Given the description of an element on the screen output the (x, y) to click on. 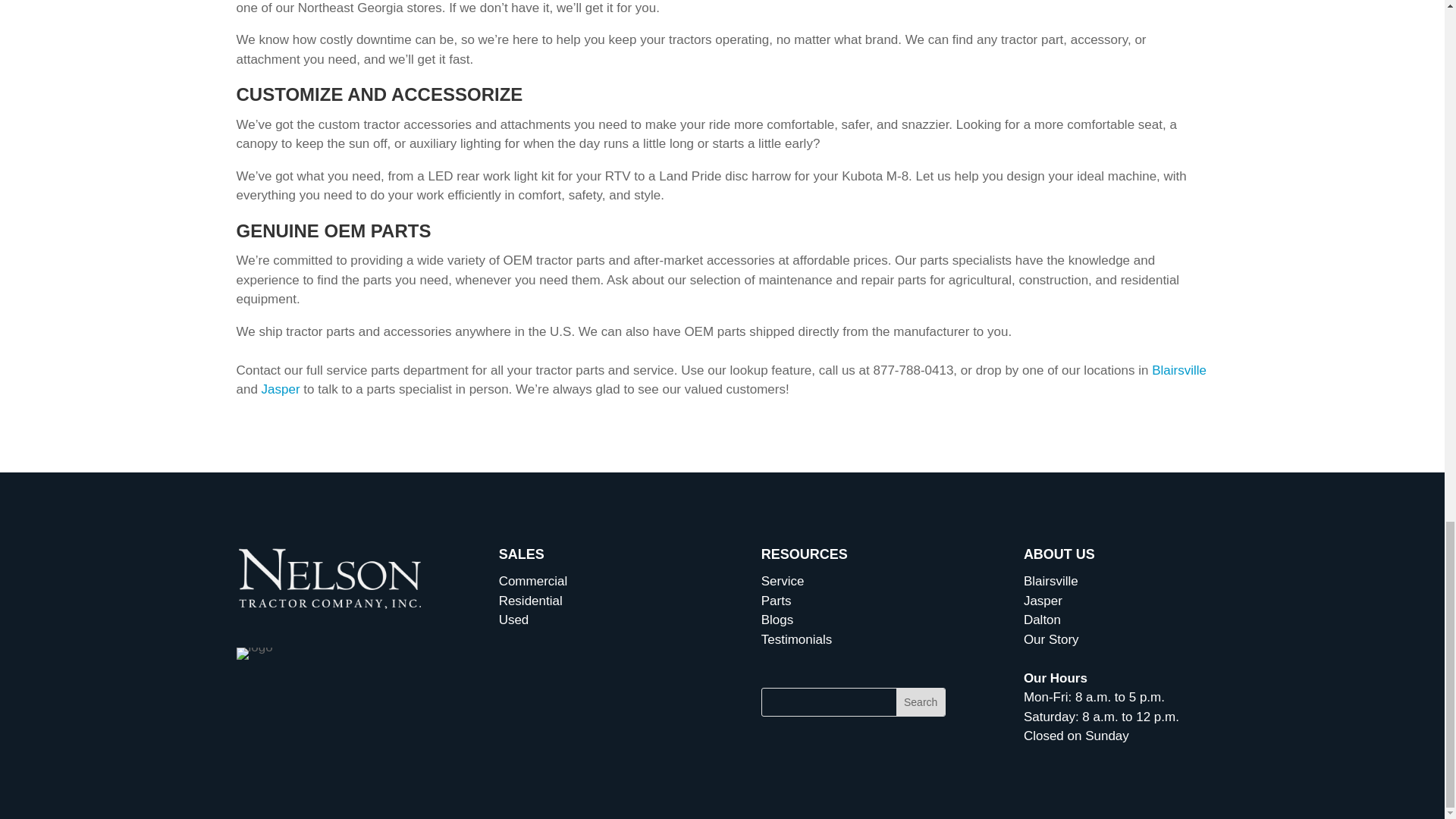
logo (254, 653)
Search (920, 701)
Search (920, 701)
nelsontractorlogo (328, 577)
